Given the description of an element on the screen output the (x, y) to click on. 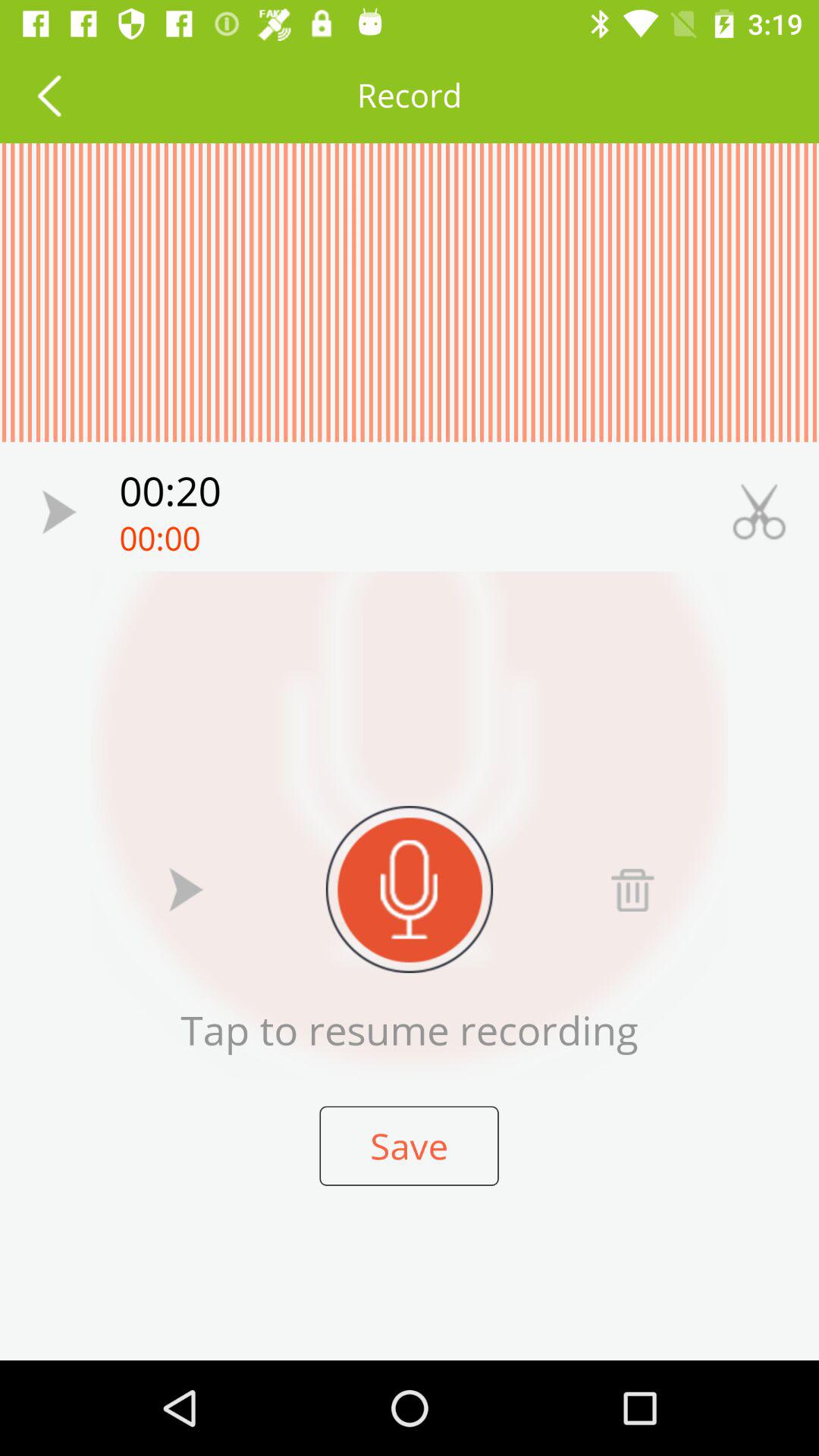
tap the icon below tap to resume item (408, 1145)
